Given the description of an element on the screen output the (x, y) to click on. 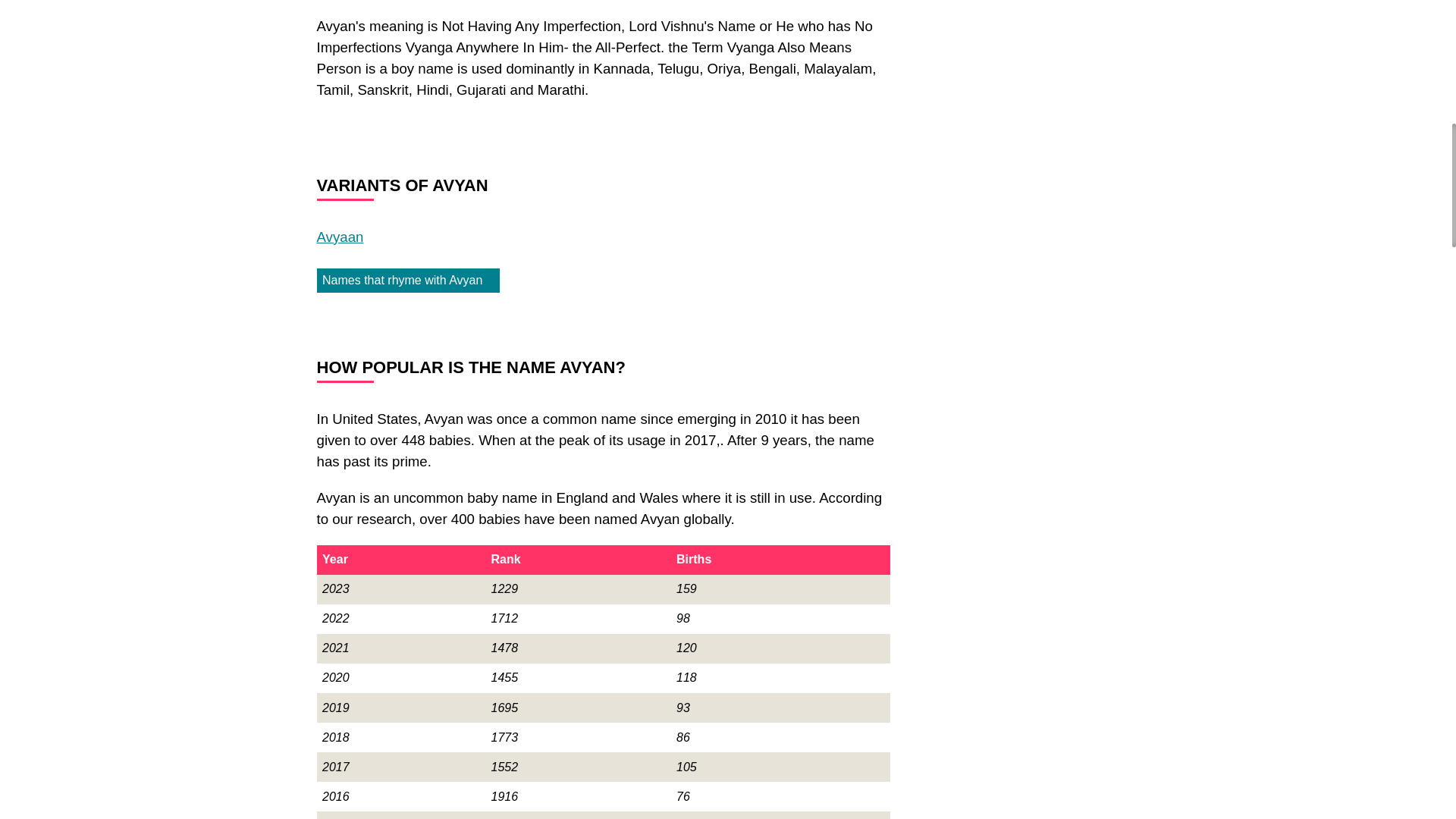
Avyaan (340, 236)
Names that rhyme with Avyan (408, 280)
